Given the description of an element on the screen output the (x, y) to click on. 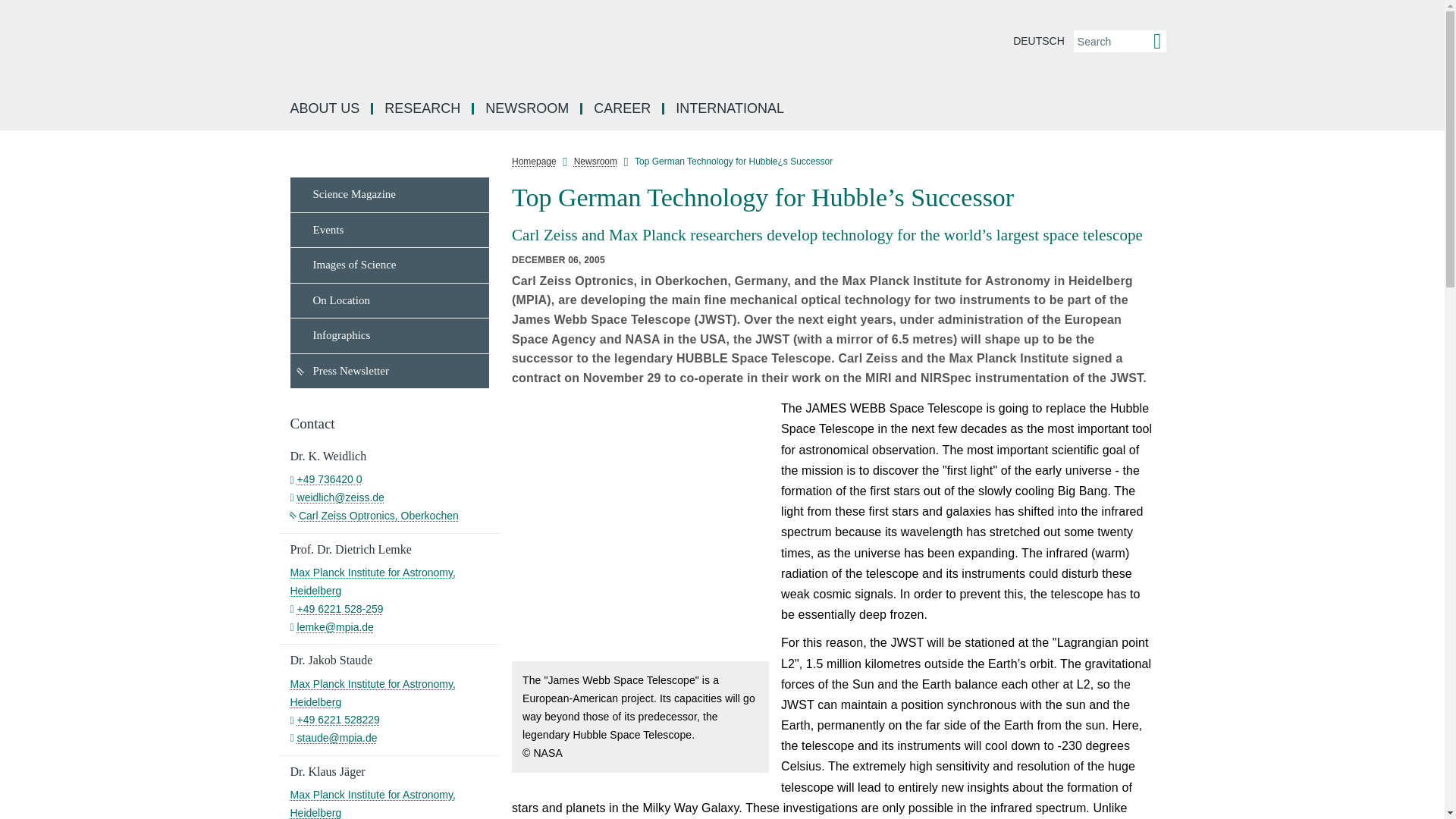
Facebook (1177, 184)
Carl Zeiss Optronics, Oberkochen (373, 515)
DEUTSCH (1038, 41)
Reddit (1177, 252)
E-Mail (1177, 354)
Twitter (1177, 287)
ABOUT US (326, 108)
LinkedIn (1177, 219)
Print (1177, 389)
